Given the description of an element on the screen output the (x, y) to click on. 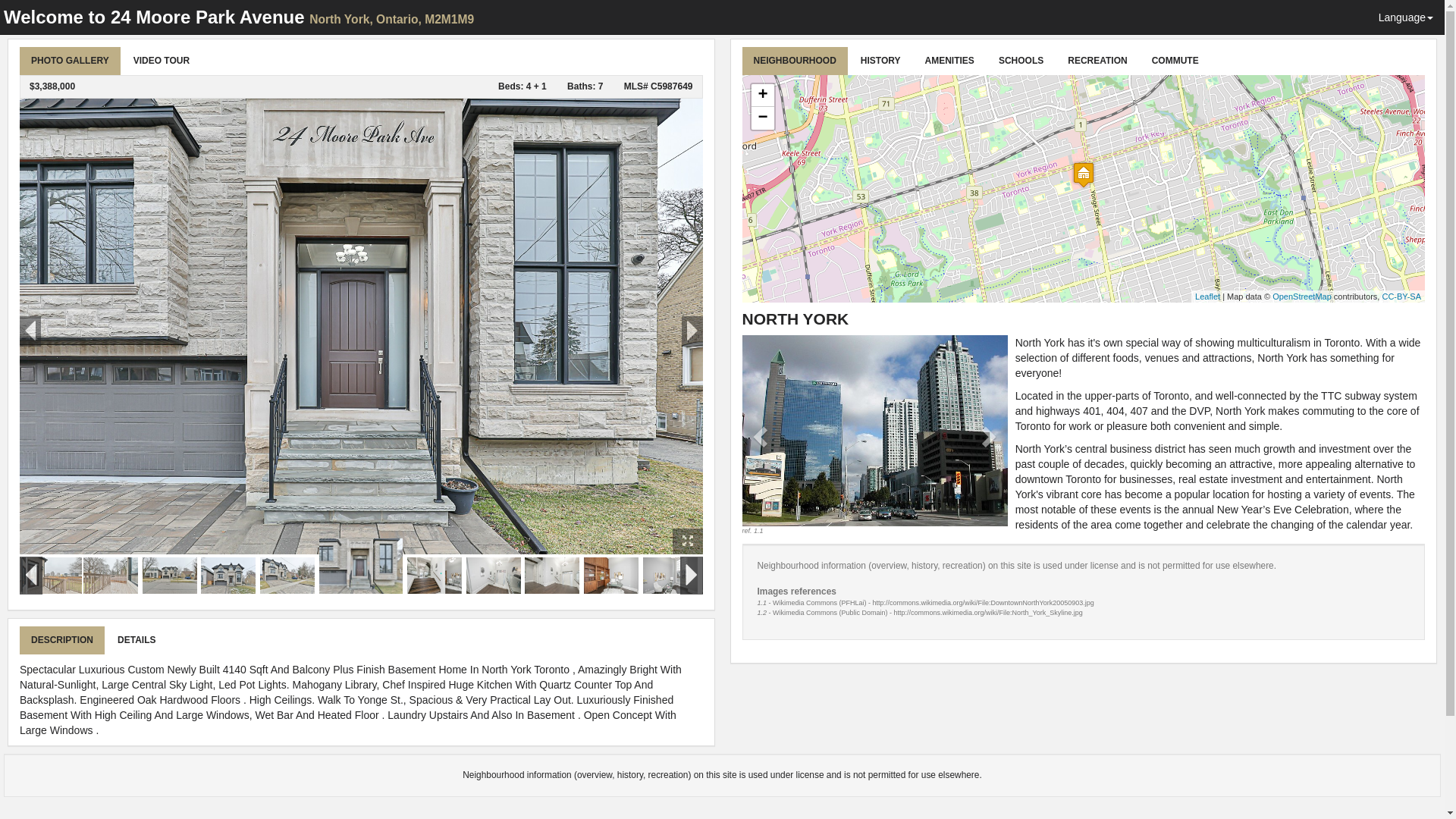
Previous Element type: text (761, 435)
+ Element type: text (761, 95)
DESCRIPTION Element type: text (61, 640)
HISTORY Element type: text (880, 61)
Language Element type: text (1405, 17)
CC-BY-SA Element type: text (1401, 296)
VIDEO TOUR Element type: text (161, 61)
SCHOOLS Element type: text (1020, 61)
RECREATION Element type: text (1097, 61)
Next Element type: text (987, 435)
OpenStreetMap Element type: text (1301, 296)
AMENITIES Element type: text (949, 61)
NEIGHBOURHOOD Element type: text (794, 61)
COMMUTE Element type: text (1175, 61)
PHOTO GALLERY Element type: text (69, 61)
DETAILS Element type: text (136, 640)
Leaflet Element type: text (1207, 296)
